Given the description of an element on the screen output the (x, y) to click on. 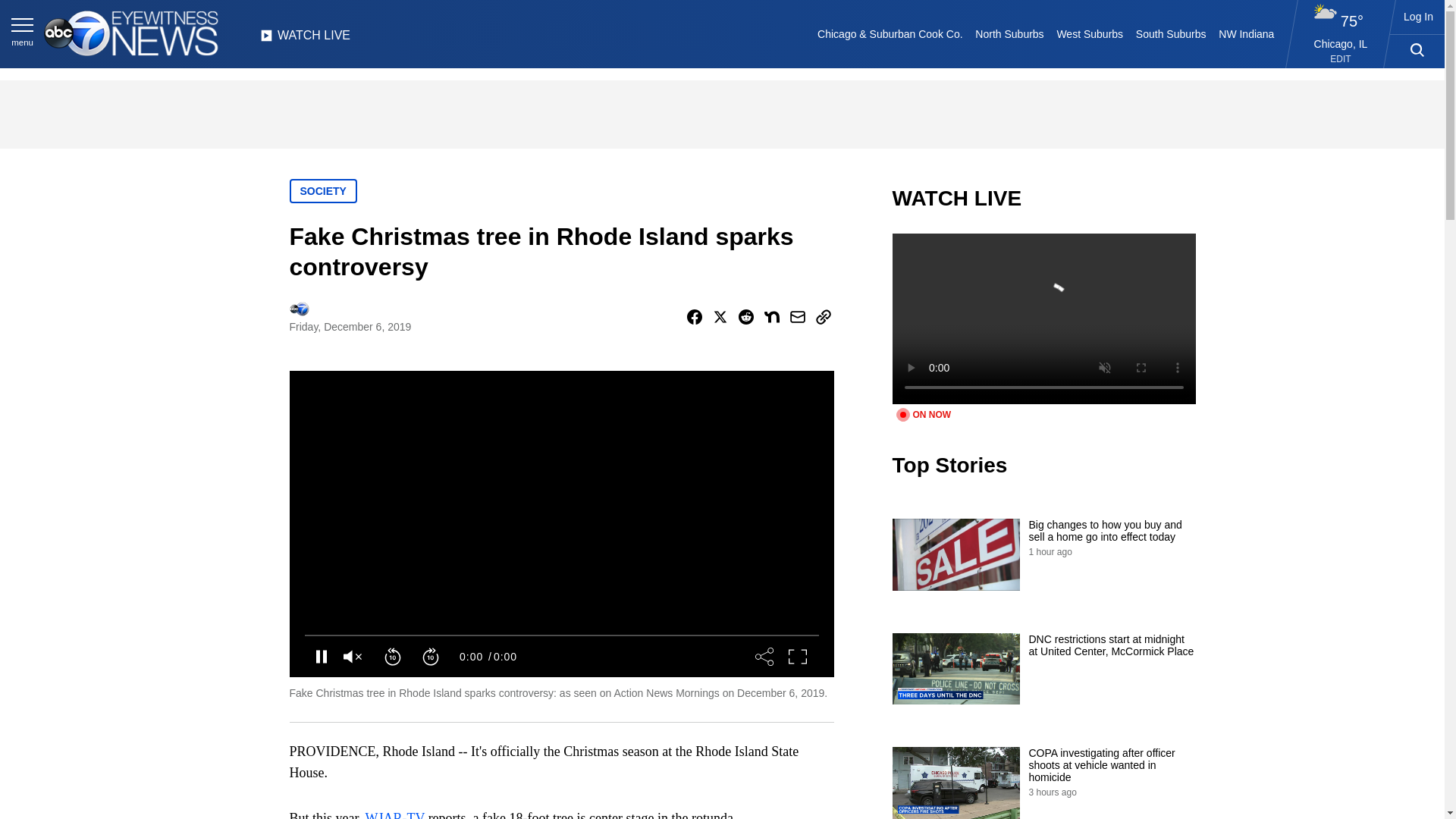
EDIT (1340, 59)
Chicago, IL (1340, 43)
NW Indiana (1246, 33)
WATCH LIVE (305, 39)
South Suburbs (1170, 33)
video.title (1043, 318)
North Suburbs (1009, 33)
West Suburbs (1089, 33)
